Given the description of an element on the screen output the (x, y) to click on. 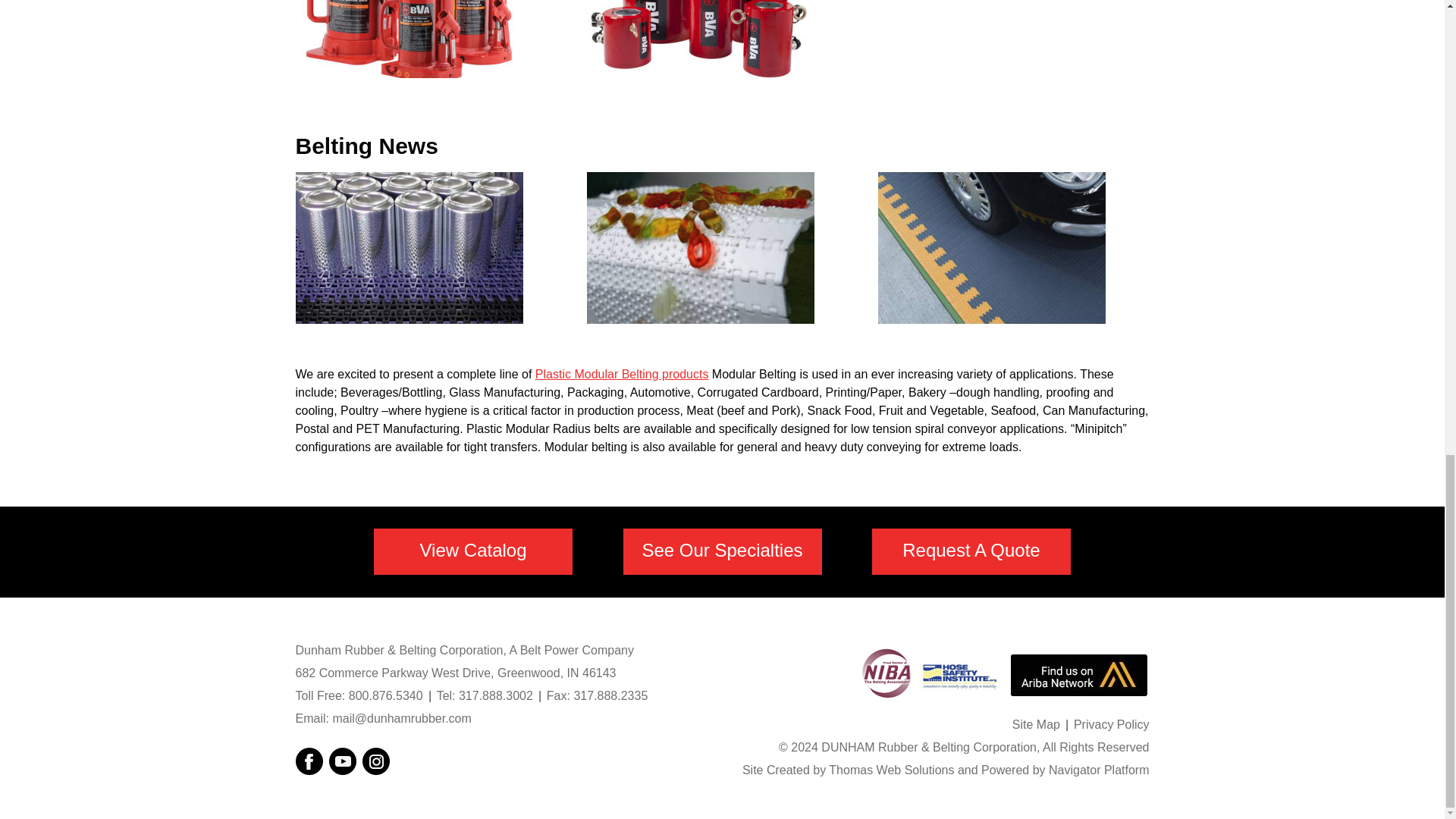
Ariba (1078, 675)
HSI (959, 676)
NIBA (886, 673)
